Given the description of an element on the screen output the (x, y) to click on. 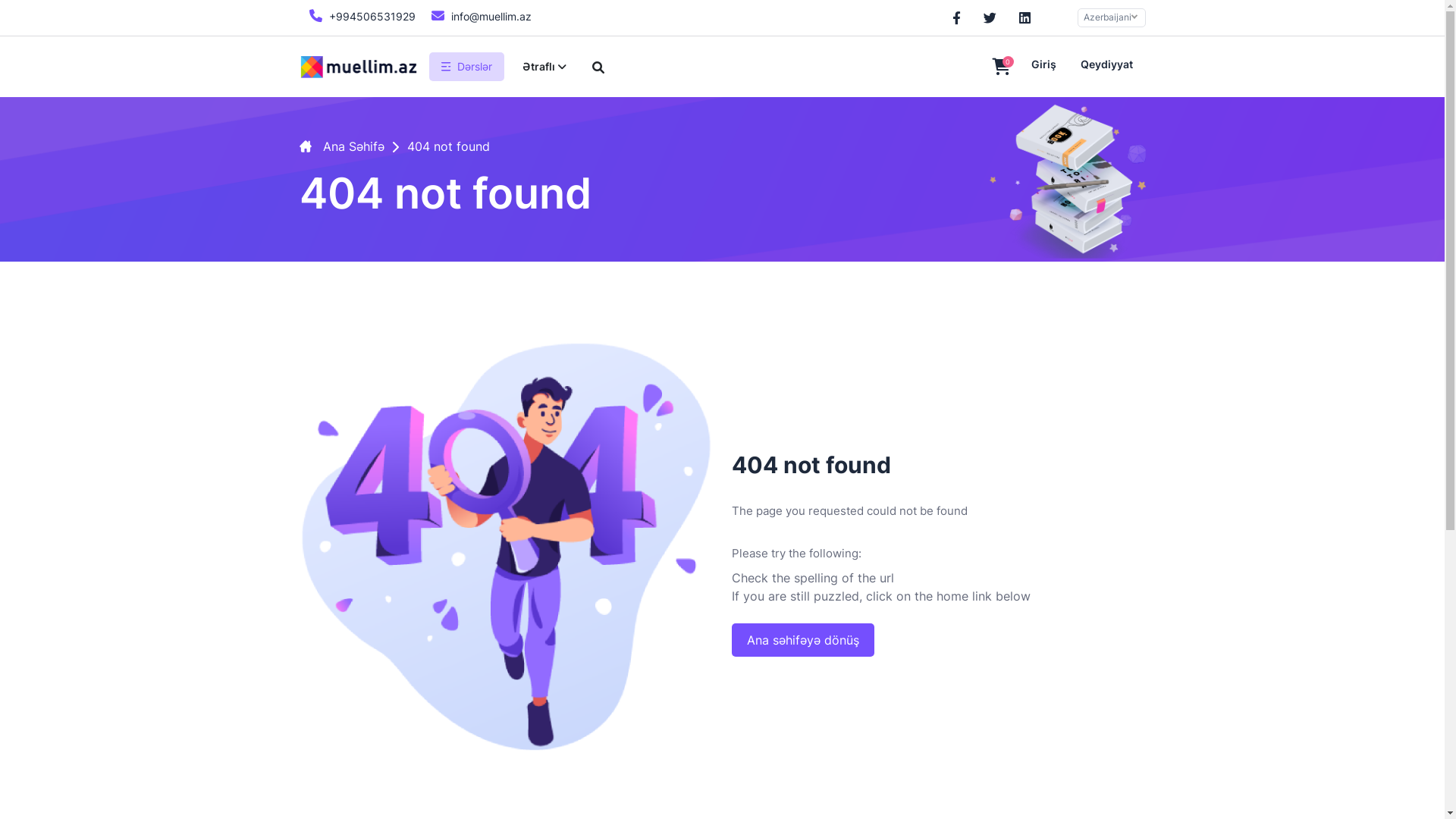
Qeydiyyat Element type: text (1105, 66)
info@muellim.az Element type: text (479, 15)
+994506531929 Element type: text (359, 15)
0 Element type: text (1000, 68)
